Given the description of an element on the screen output the (x, y) to click on. 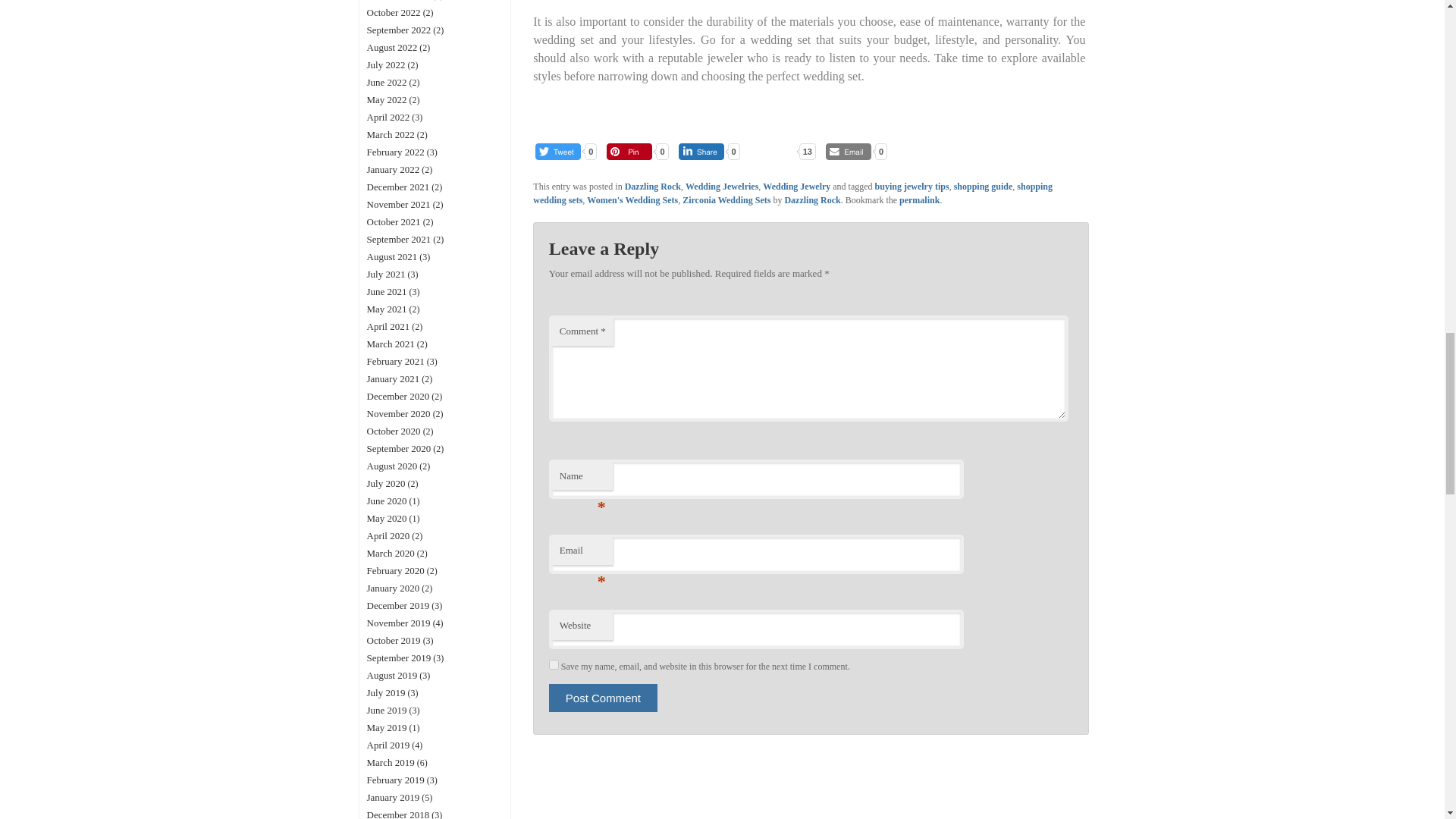
permalink (919, 199)
shopping guide (983, 185)
shopping wedding sets (792, 192)
Post Comment (603, 697)
Women's Wedding Sets (632, 199)
Post Comment (603, 697)
buying jewelry tips (912, 185)
Zirconia Wedding Sets (726, 199)
Wedding Jewelry (795, 185)
